Given the description of an element on the screen output the (x, y) to click on. 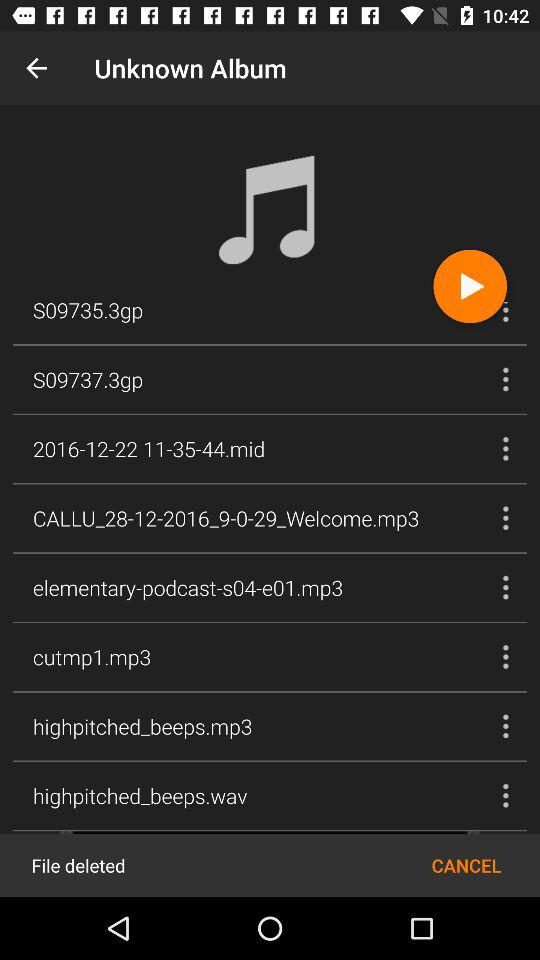
open callu_28 12 2016_9 (226, 517)
